Given the description of an element on the screen output the (x, y) to click on. 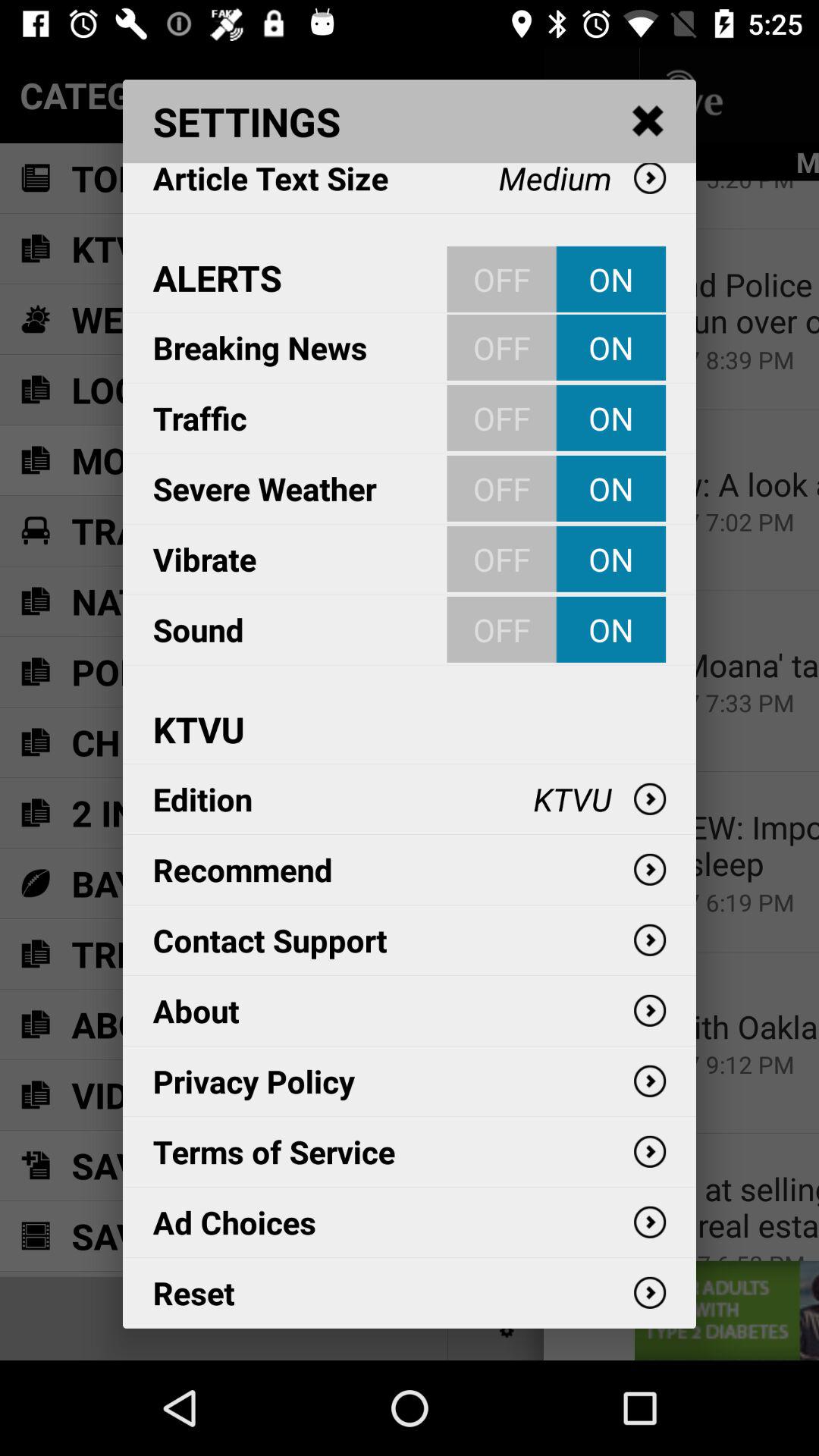
close (648, 121)
